Given the description of an element on the screen output the (x, y) to click on. 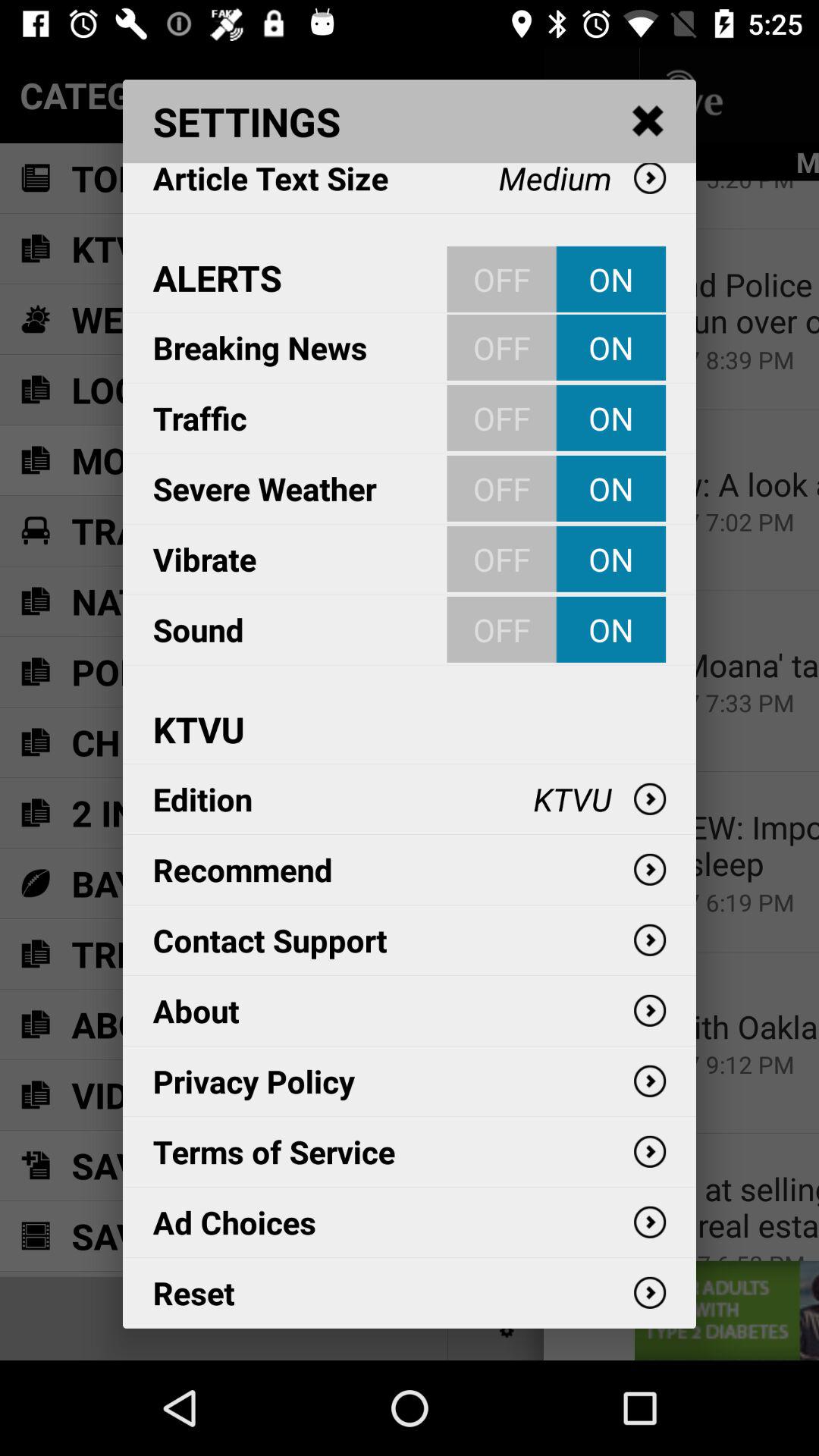
close (648, 121)
